Given the description of an element on the screen output the (x, y) to click on. 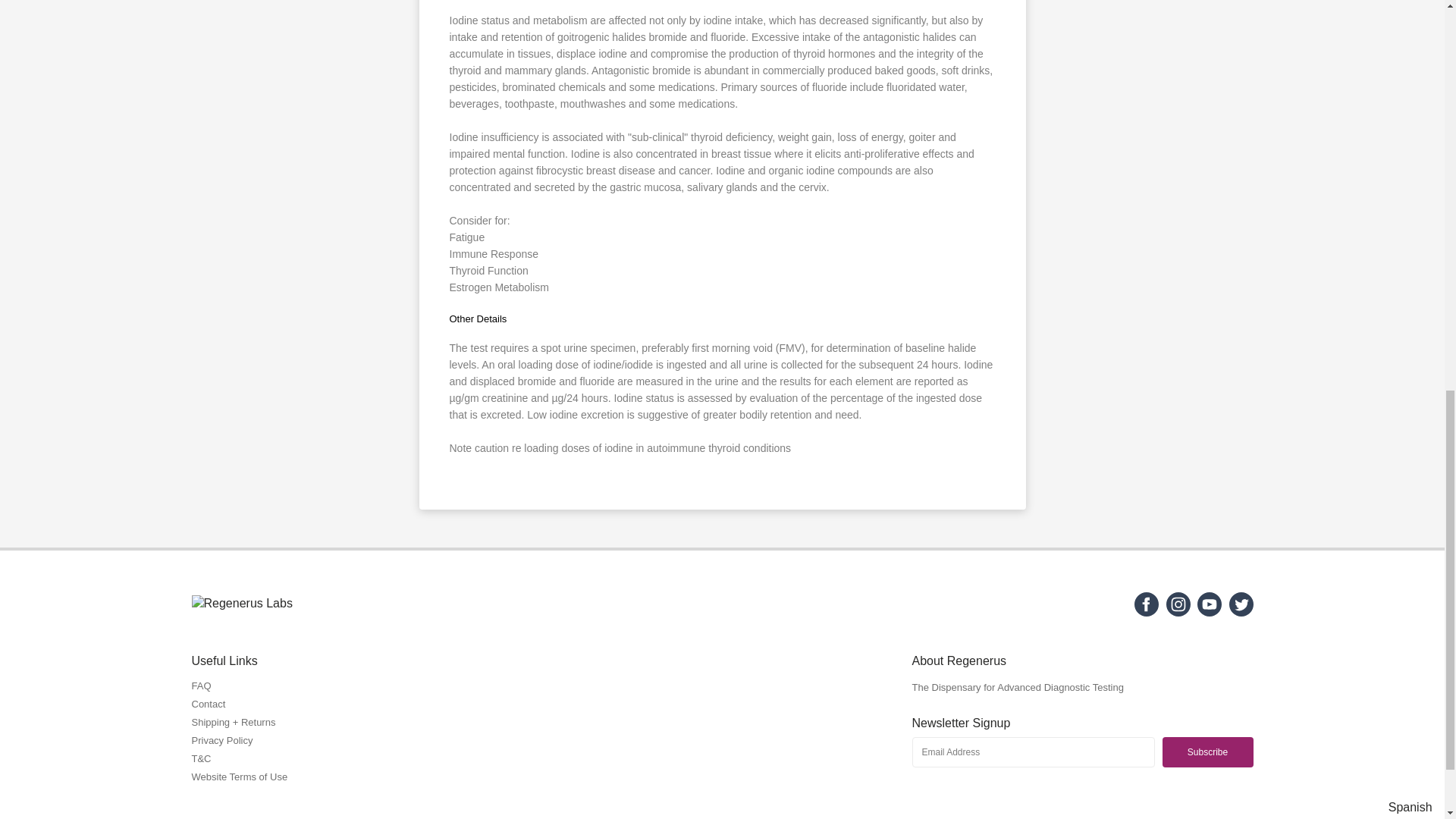
YouTubeicon (1208, 612)
Twittericon (1240, 612)
Subscribe (1206, 752)
Facebookicon (1146, 612)
Instagramicon (1178, 612)
